Given the description of an element on the screen output the (x, y) to click on. 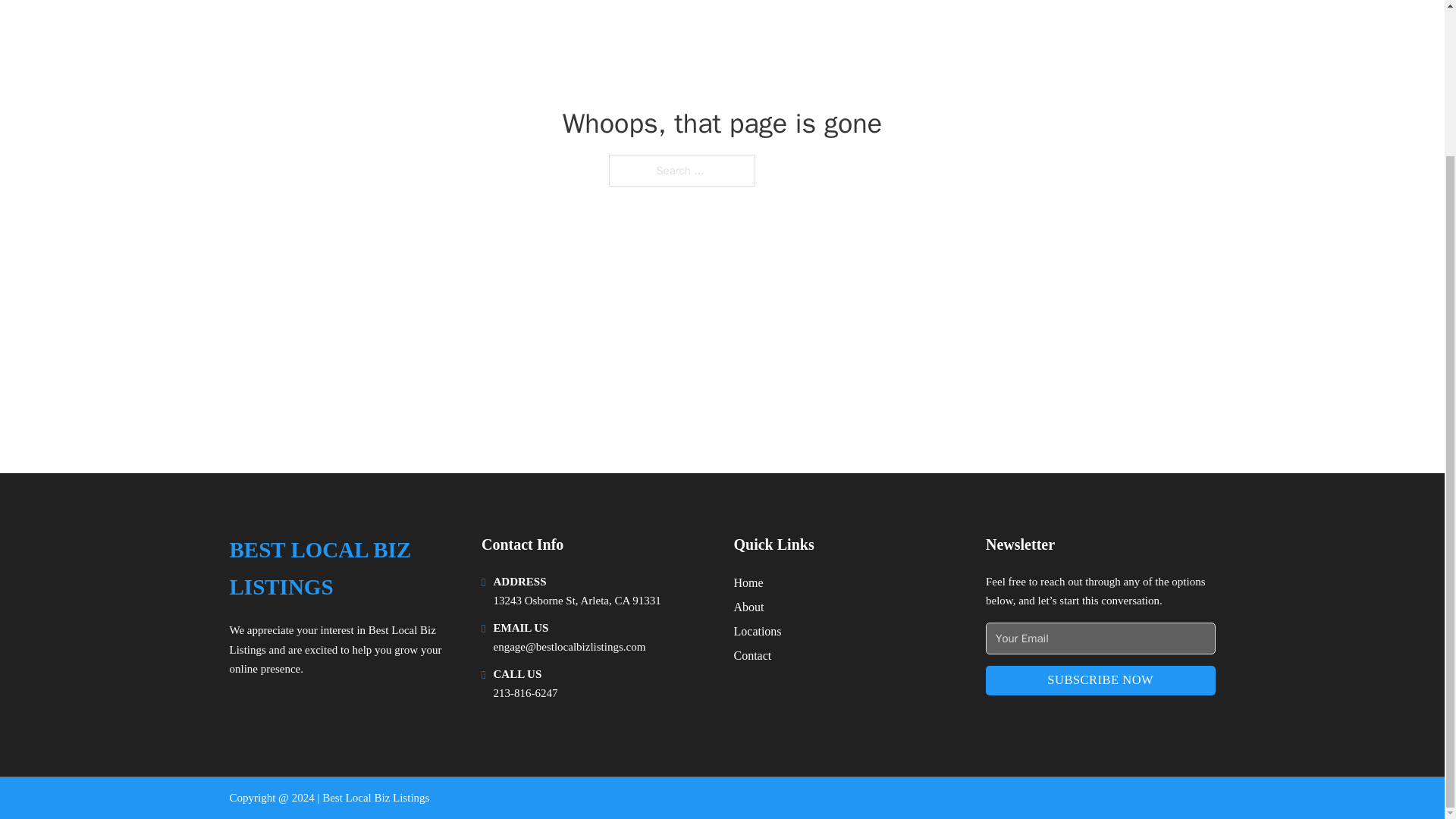
BEST LOCAL BIZ LISTINGS (343, 568)
213-816-6247 (525, 693)
SUBSCRIBE NOW (1100, 680)
About (748, 607)
Home (747, 582)
Locations (757, 630)
Contact (752, 655)
